Given the description of an element on the screen output the (x, y) to click on. 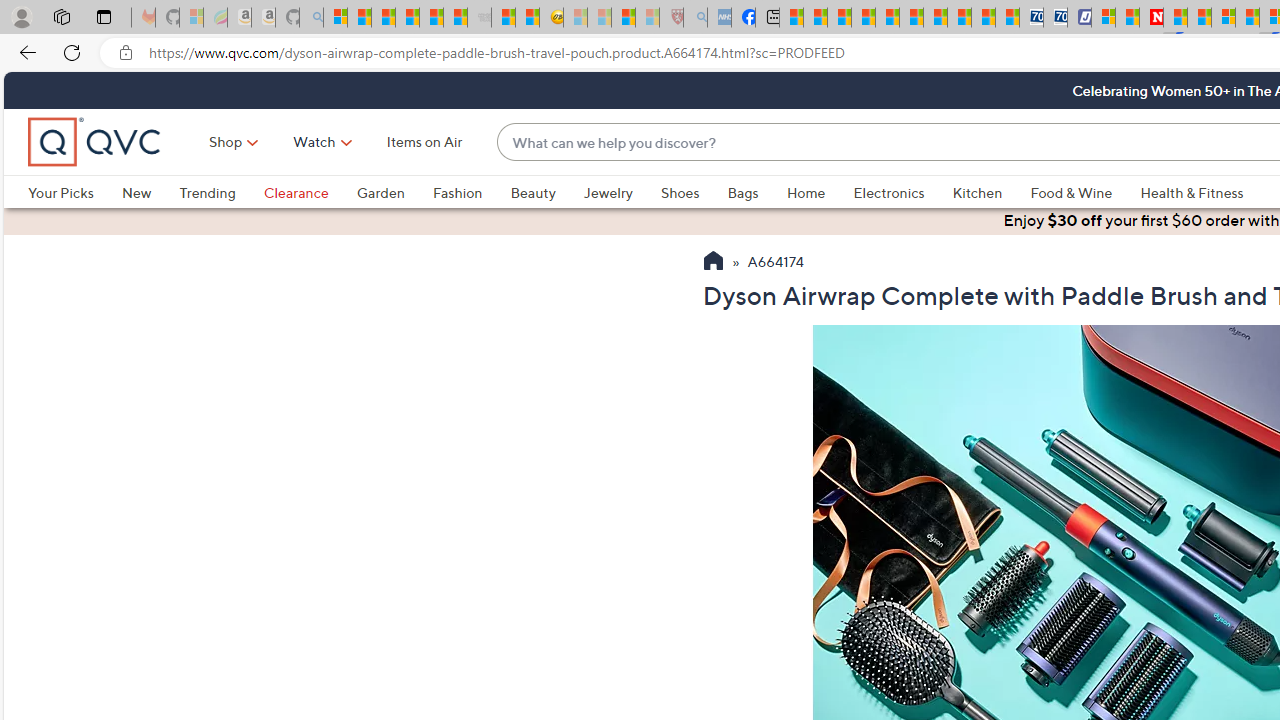
Health & Fitness (1192, 192)
A664174 (776, 263)
New (150, 192)
Combat Siege - Sleeping (479, 17)
